Given the description of an element on the screen output the (x, y) to click on. 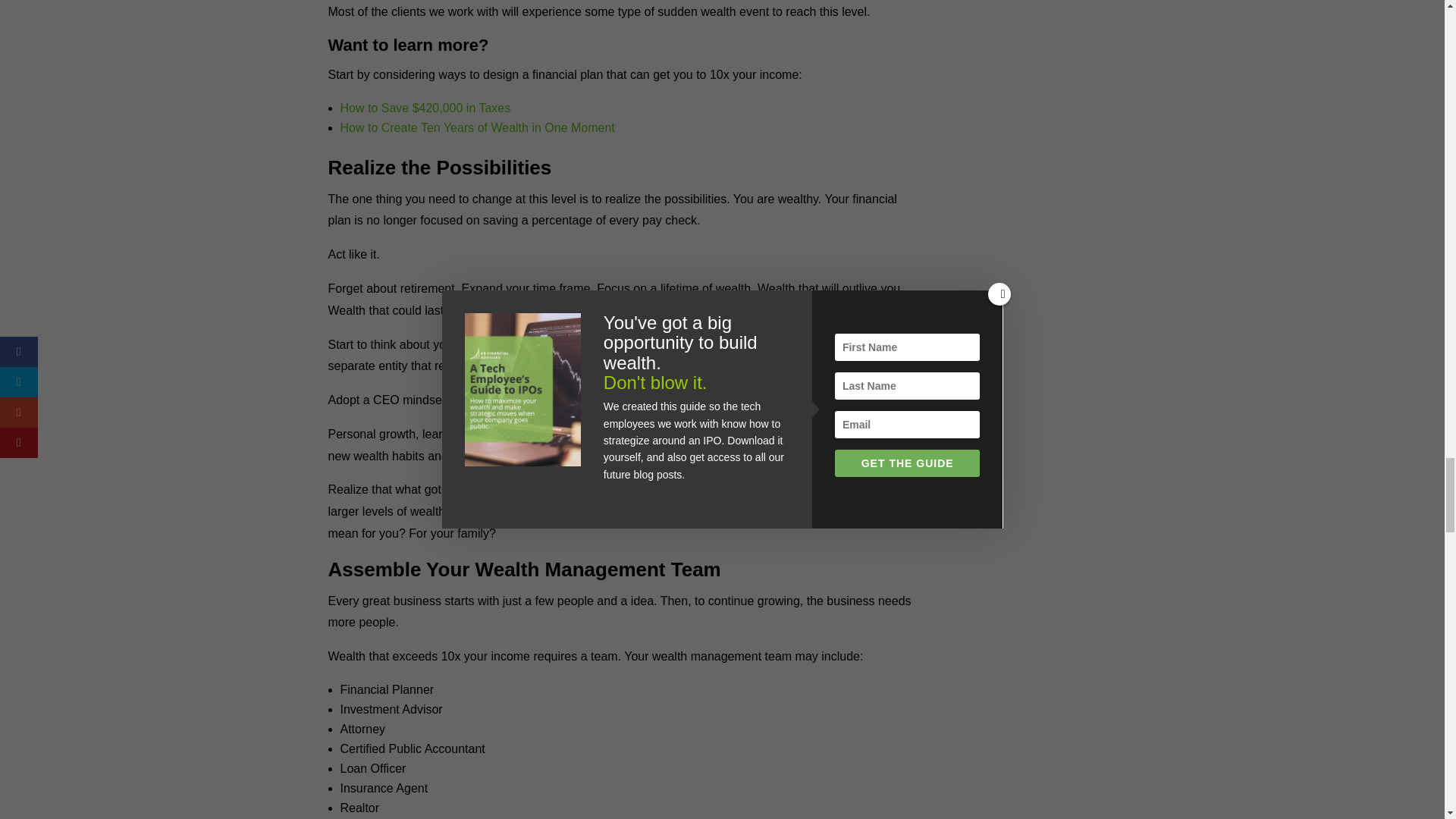
How to Create Ten Years of Wealth in One Moment (476, 127)
